Given the description of an element on the screen output the (x, y) to click on. 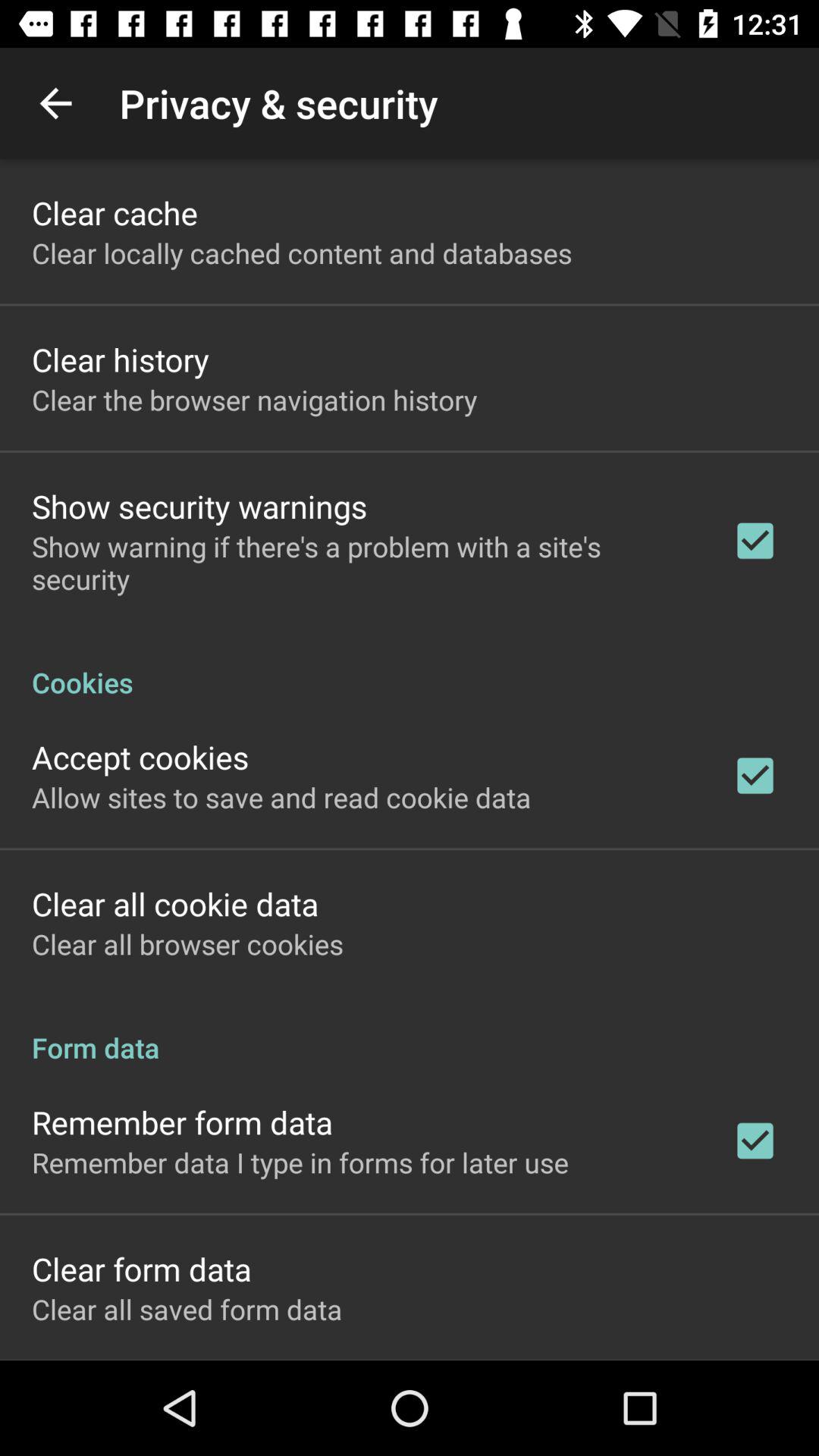
launch item below accept cookies (281, 797)
